Given the description of an element on the screen output the (x, y) to click on. 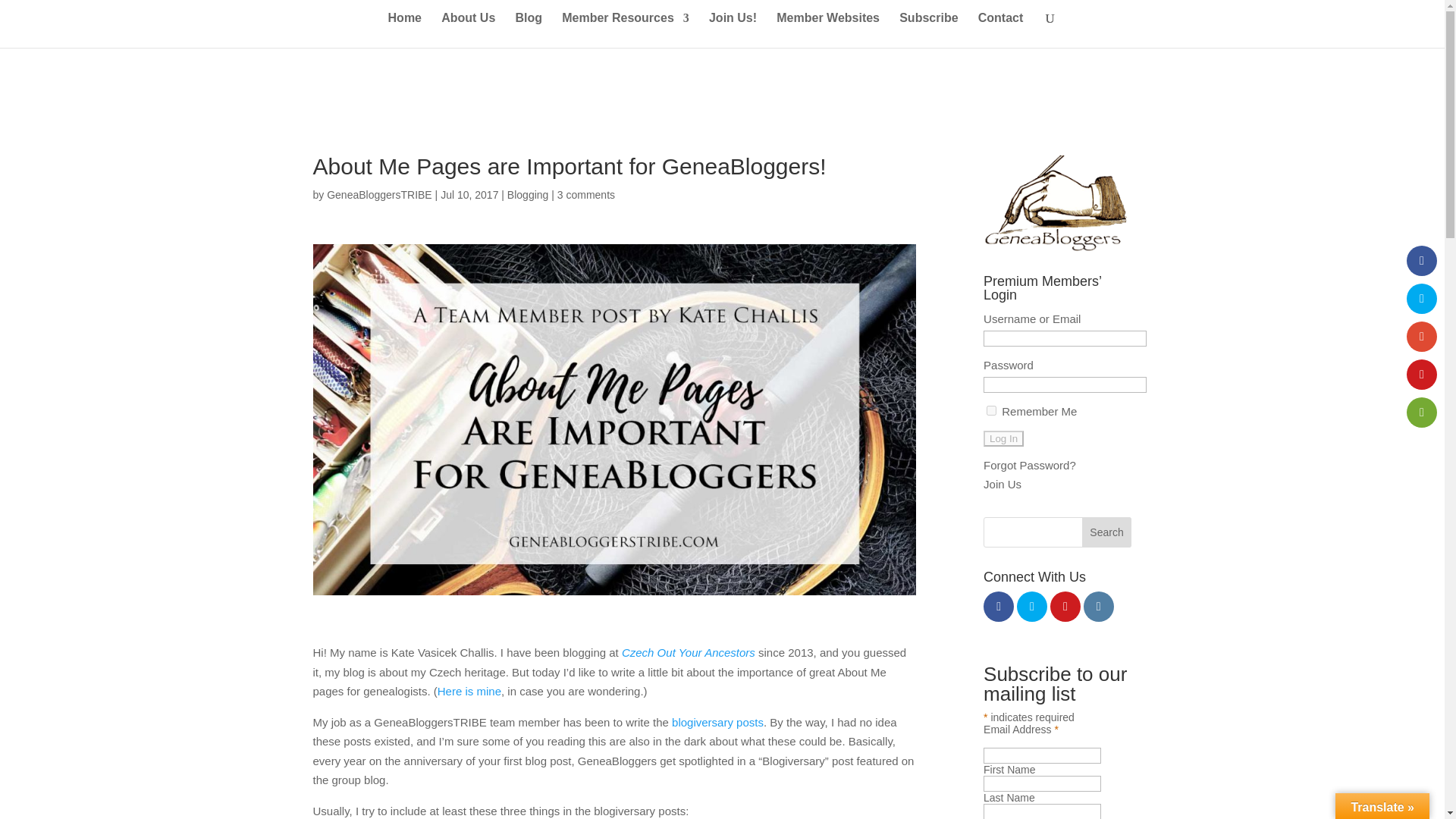
Forgot Password? (1029, 464)
Home (405, 30)
on (991, 410)
GeneaBloggersTRIBE (379, 194)
Search (1106, 531)
blogiversary posts (716, 721)
Czech Out Your Ancestors (688, 652)
Log In (1003, 438)
Contact (1000, 30)
Here is mine (469, 690)
Join Us (1003, 483)
Blogging (527, 194)
Subscribe (928, 30)
Member Resources (625, 30)
Log In (1003, 438)
